Given the description of an element on the screen output the (x, y) to click on. 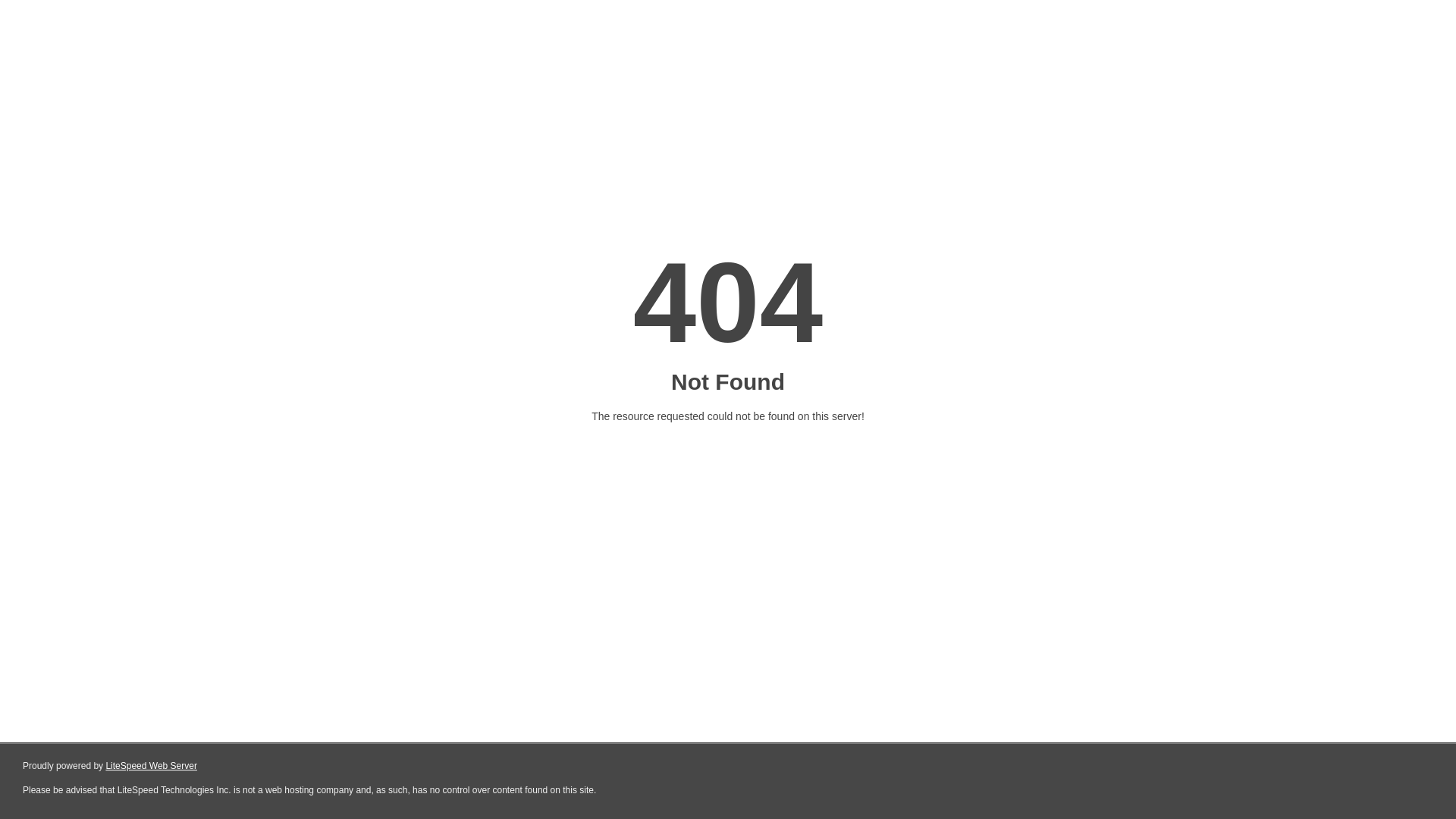
LiteSpeed Web Server Element type: text (151, 765)
